Given the description of an element on the screen output the (x, y) to click on. 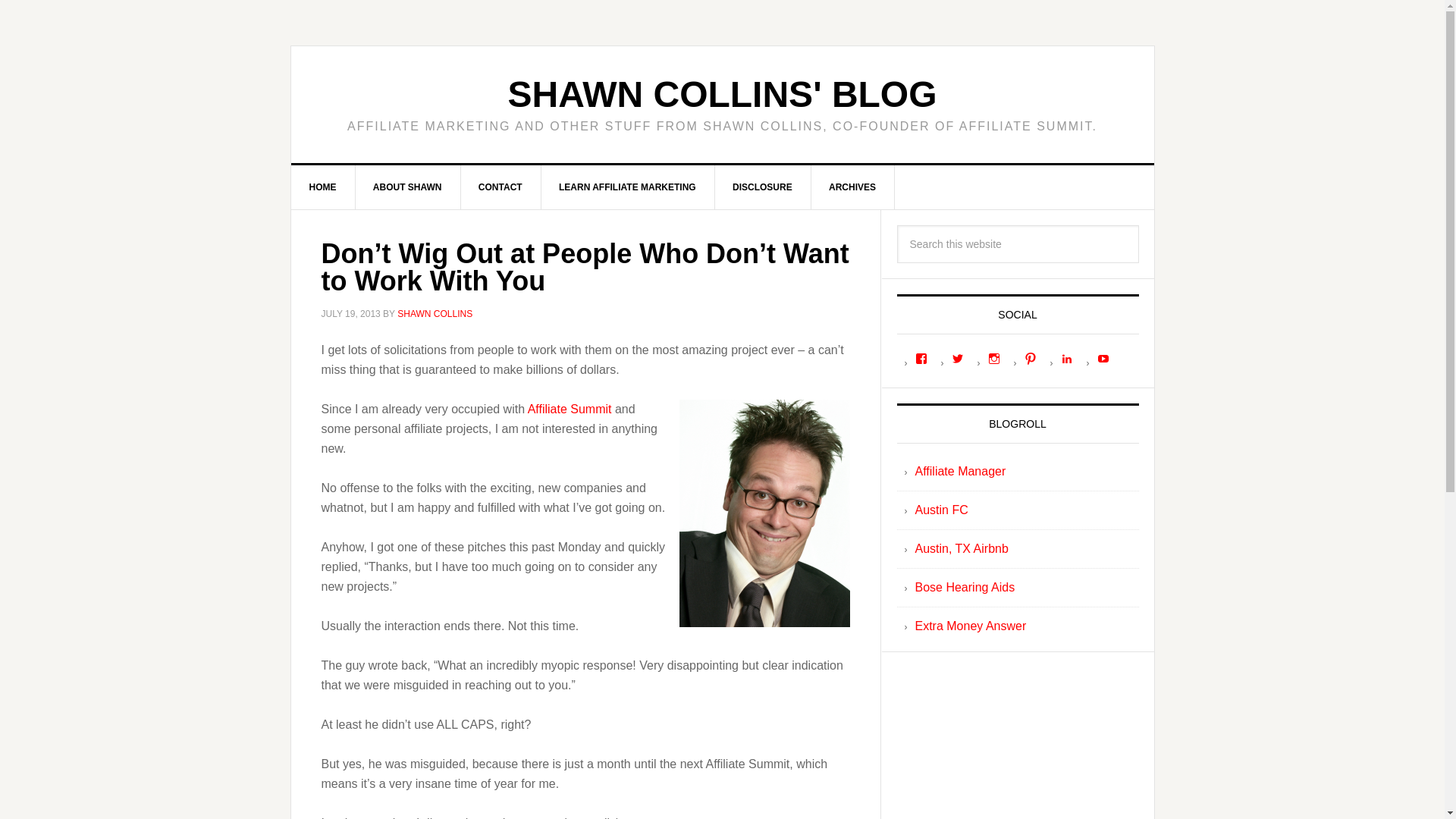
ARCHIVES (852, 187)
DISCLOSURE (762, 187)
Austin FC (941, 509)
HOME (323, 187)
SHAWN COLLINS' BLOG (721, 94)
Extra Money Answer (970, 625)
Austin, TX Airbnb (960, 548)
SHAWN COLLINS (434, 313)
Bose Hearing Aids (964, 586)
